Given the description of an element on the screen output the (x, y) to click on. 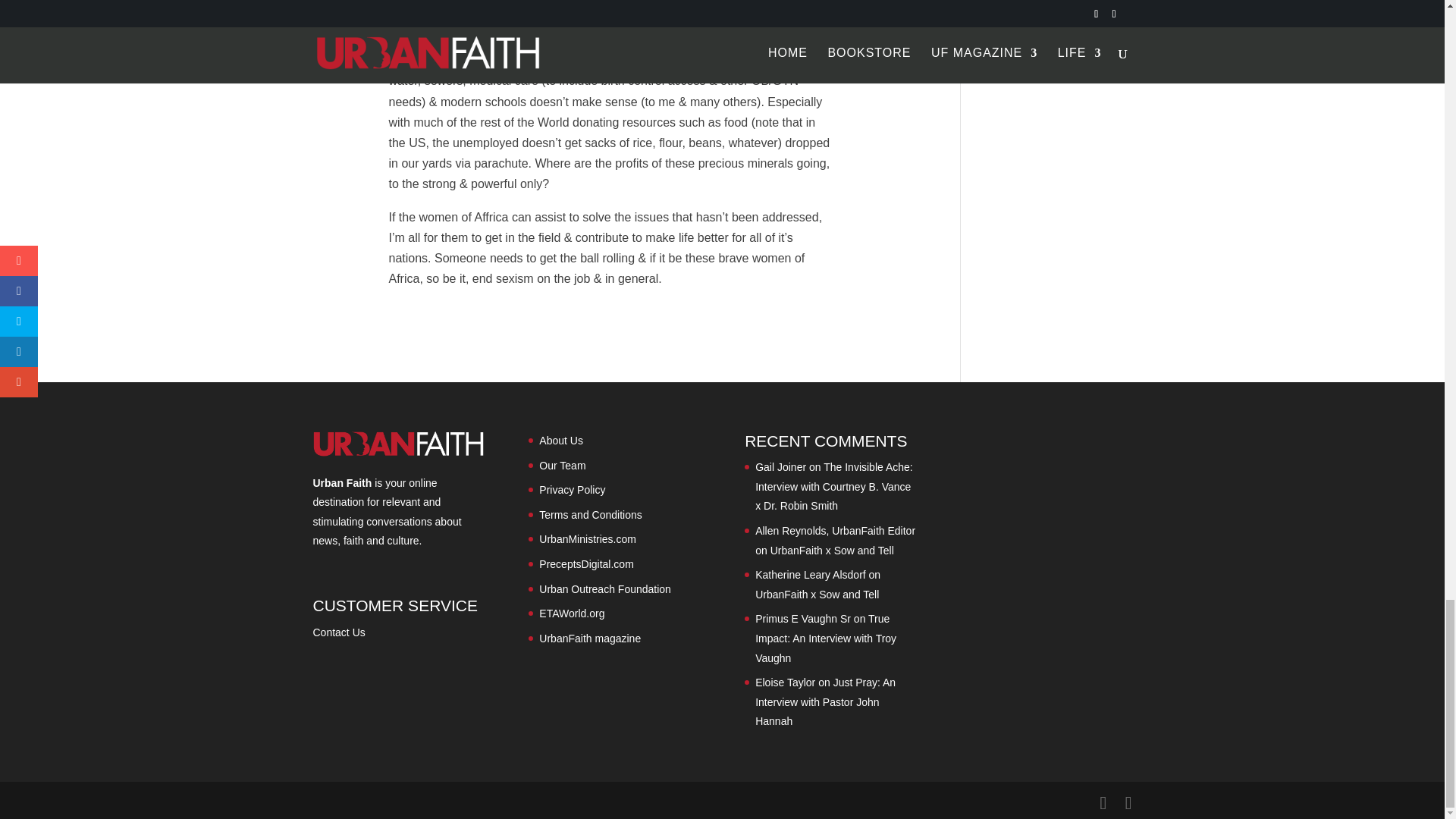
PreceptsDigital.com (585, 563)
UrbanFaith x Sow and Tell (817, 594)
Terms and Conditions (590, 514)
UrbanFaith x Sow and Tell (831, 550)
Contact Us (339, 632)
ETAWorld.org (571, 613)
UrbanFaith magazine (589, 638)
Just Pray: An Interview with Pastor John Hannah (825, 701)
True Impact: An Interview with Troy Vaughn (825, 637)
Our Team (561, 465)
Privacy Policy (571, 490)
UrbanMinistries.com (587, 539)
Urban Outreach Foundation (604, 589)
About Us (560, 440)
